Given the description of an element on the screen output the (x, y) to click on. 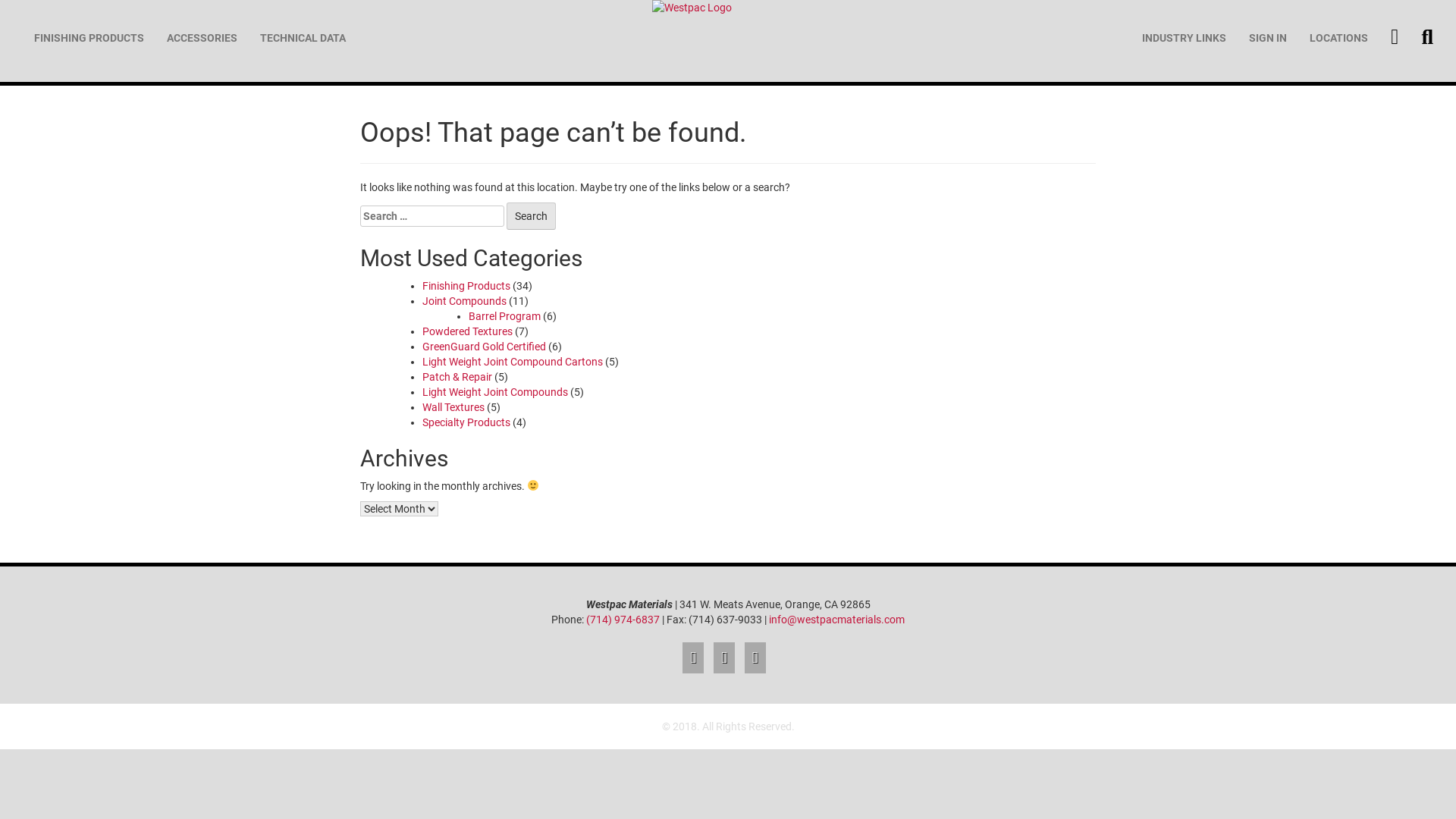
Light Weight Joint Compounds Element type: text (494, 391)
ACCESSORIES Element type: text (201, 37)
Finishing Products Element type: text (466, 285)
Joint Compounds Element type: text (464, 300)
GreenGuard Gold Certified Element type: text (484, 346)
(714) 974-6837 Element type: text (622, 619)
info@westpacmaterials.com Element type: text (836, 619)
Patch & Repair Element type: text (457, 376)
Search Element type: text (530, 215)
Powdered Textures Element type: text (467, 331)
Wall Textures Element type: text (453, 407)
Light Weight Joint Compound Cartons Element type: text (512, 361)
TECHNICAL DATA Element type: text (302, 37)
LOCATIONS Element type: text (1338, 37)
INDUSTRY LINKS Element type: text (1183, 37)
SIGN IN Element type: text (1267, 37)
Specialty Products Element type: text (466, 422)
Barrel Program Element type: text (504, 316)
FINISHING PRODUCTS Element type: text (88, 37)
